Given the description of an element on the screen output the (x, y) to click on. 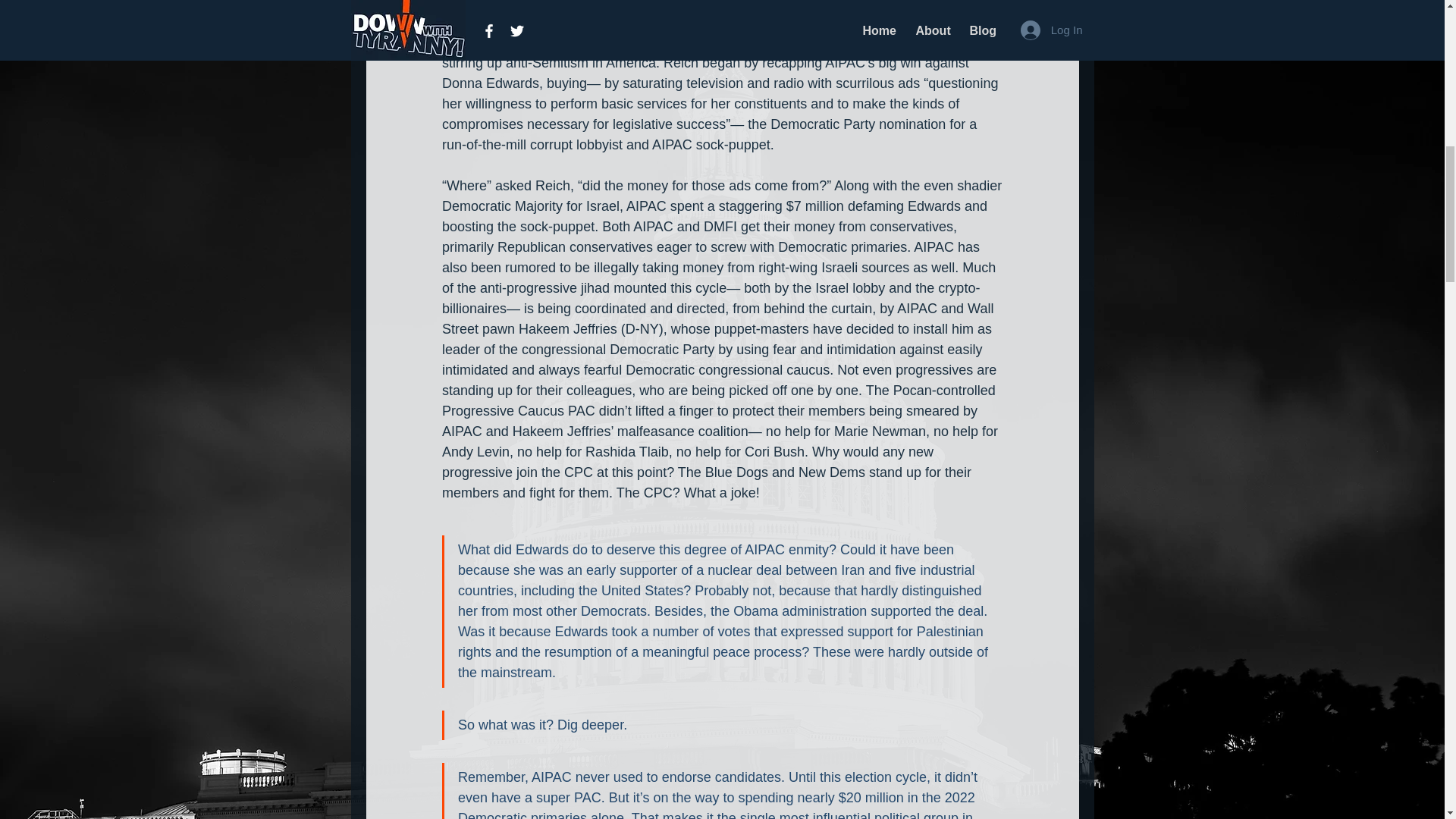
AIPAC is no longer promoting Israel or battling antisemitism (690, 31)
